Given the description of an element on the screen output the (x, y) to click on. 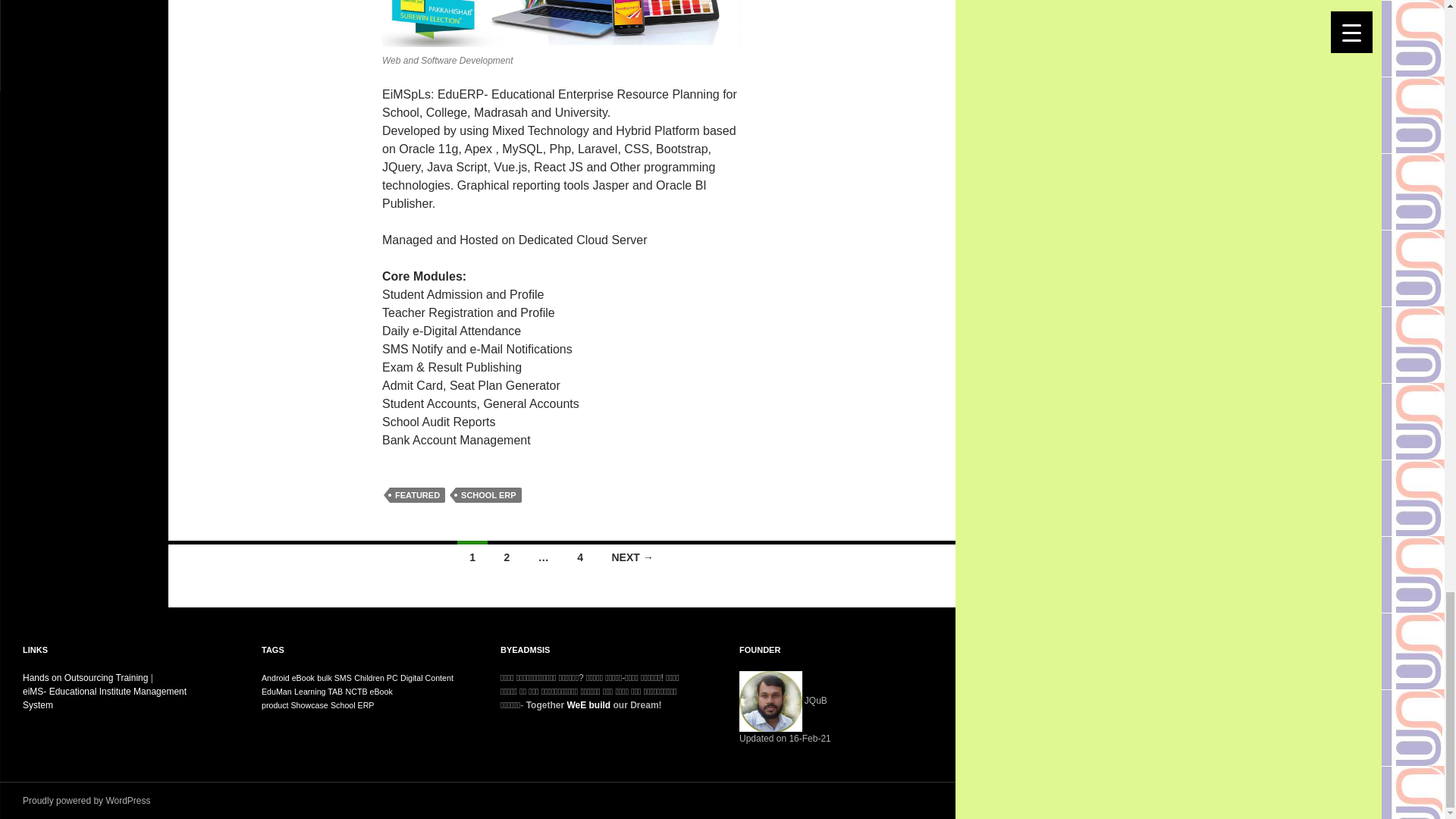
FEATURED (417, 494)
